Given the description of an element on the screen output the (x, y) to click on. 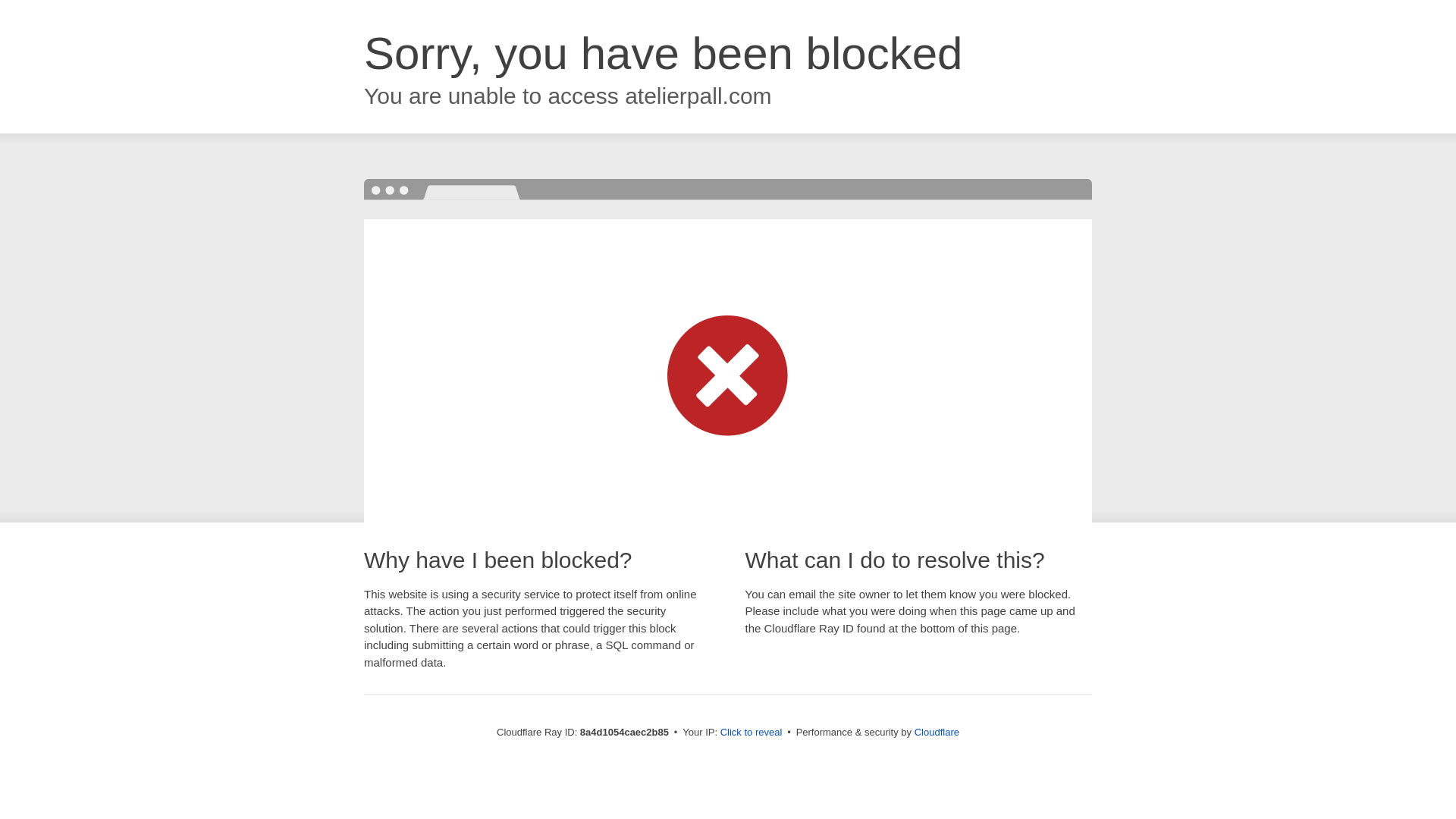
Cloudflare (936, 731)
Click to reveal (751, 732)
